Given the description of an element on the screen output the (x, y) to click on. 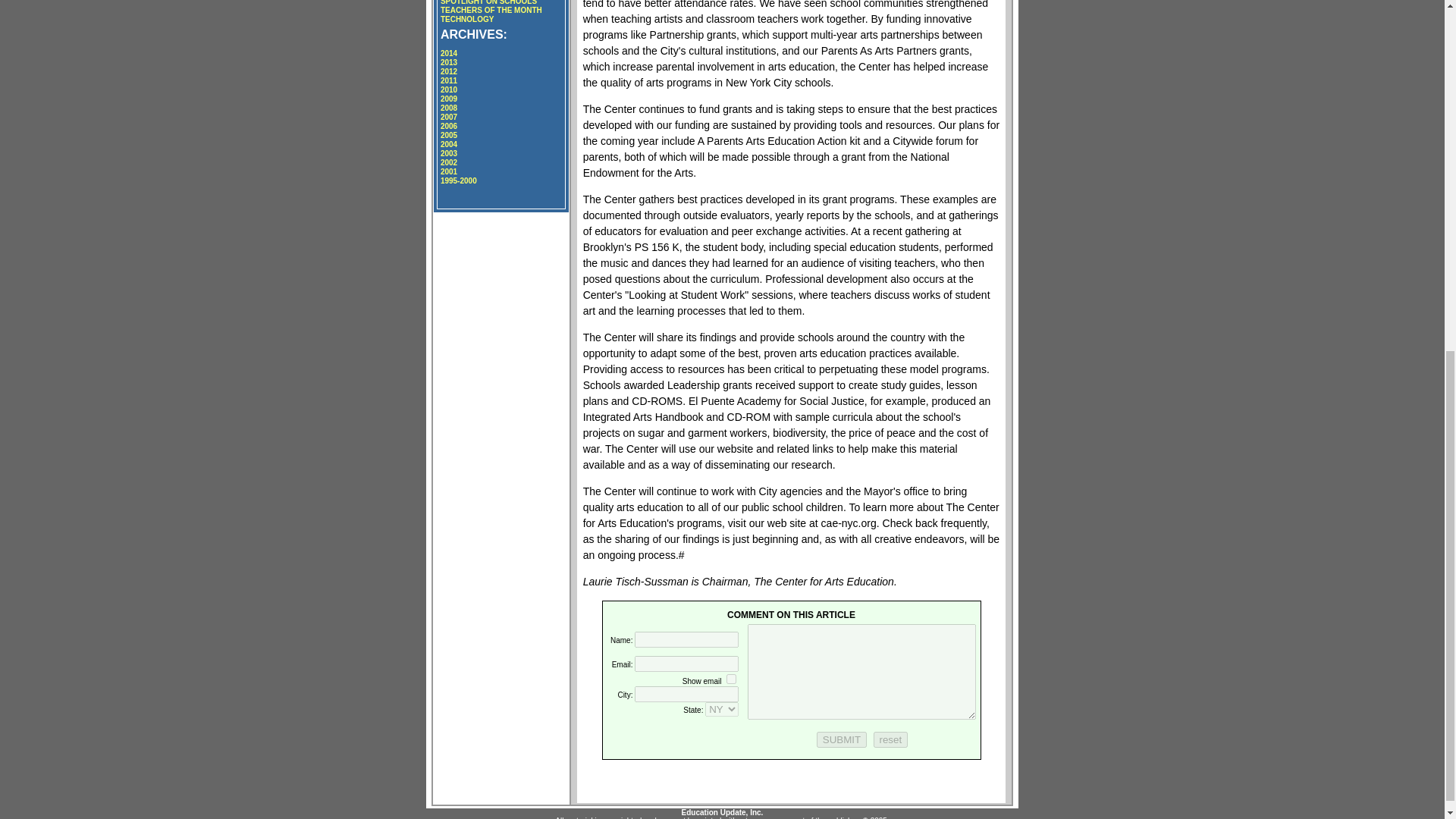
2011 (449, 80)
2010 (449, 89)
TEACHERS OF THE MONTH (491, 9)
TECHNOLOGY (468, 19)
2013 (449, 62)
2014 (449, 53)
SUBMIT (841, 739)
yes (731, 678)
reset (890, 739)
2012 (449, 71)
